Given the description of an element on the screen output the (x, y) to click on. 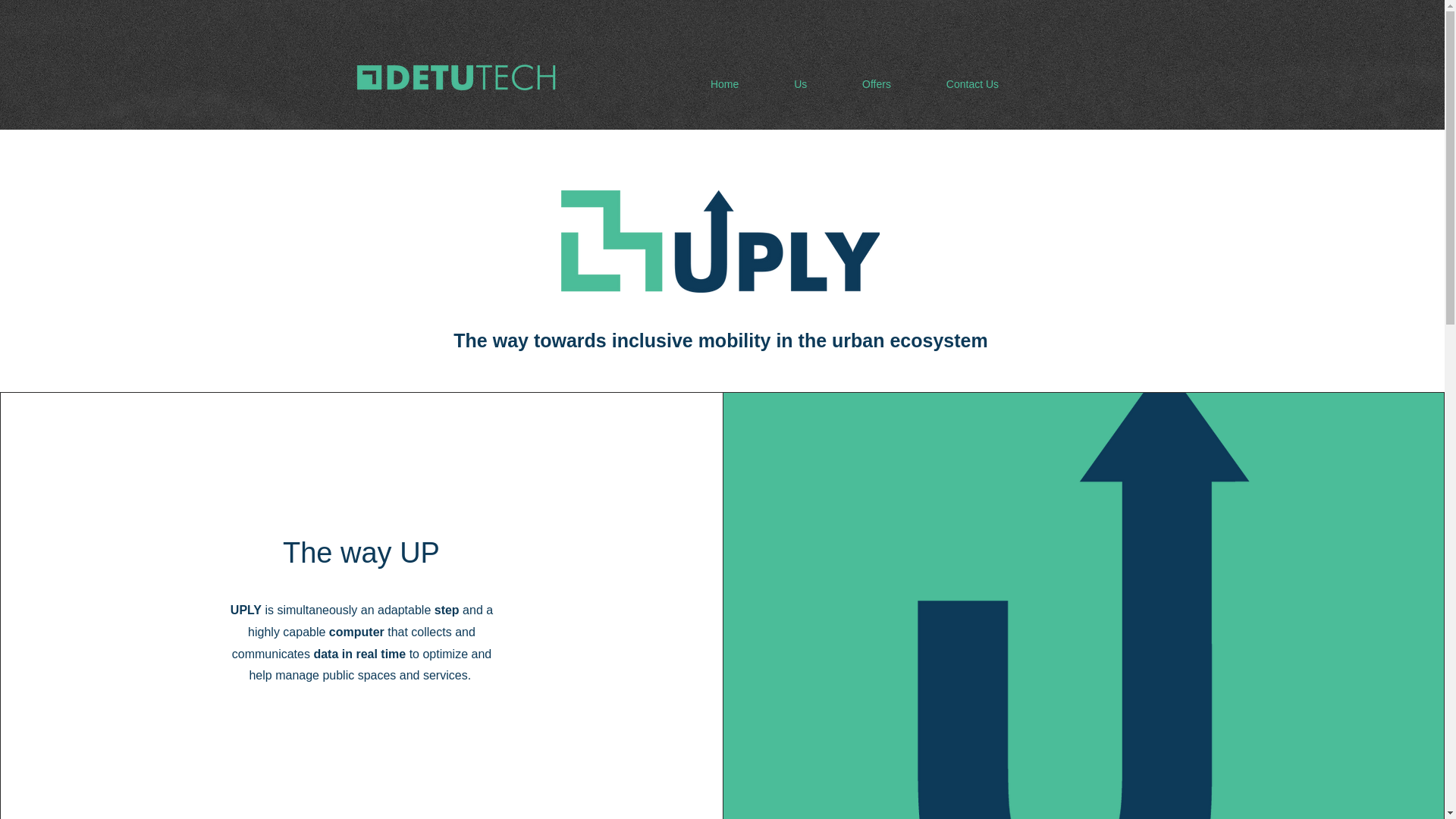
Home (723, 83)
Us (800, 83)
Contact Us (972, 83)
